Given the description of an element on the screen output the (x, y) to click on. 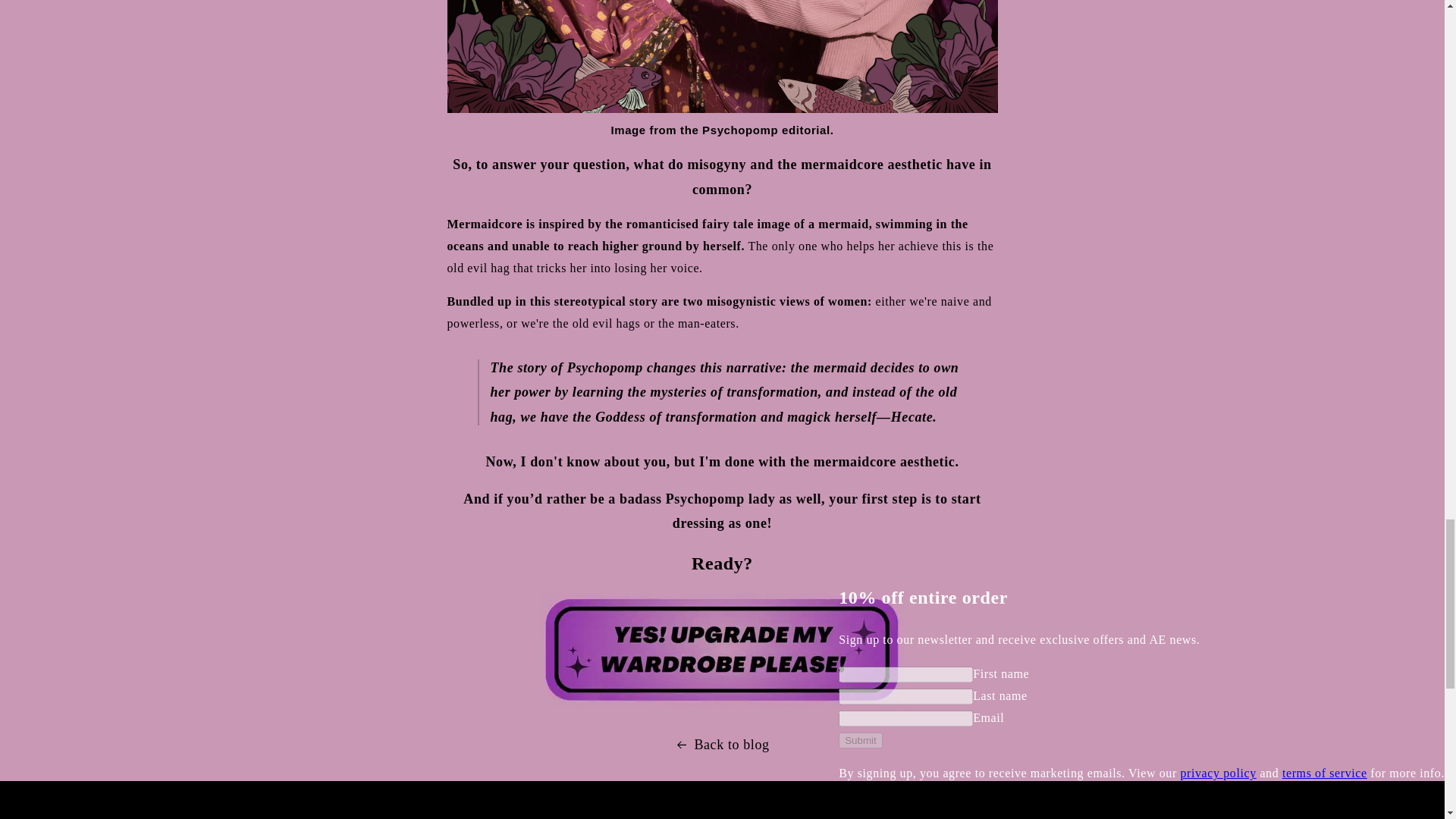
PSYCHOPOMP (722, 677)
